Given the description of an element on the screen output the (x, y) to click on. 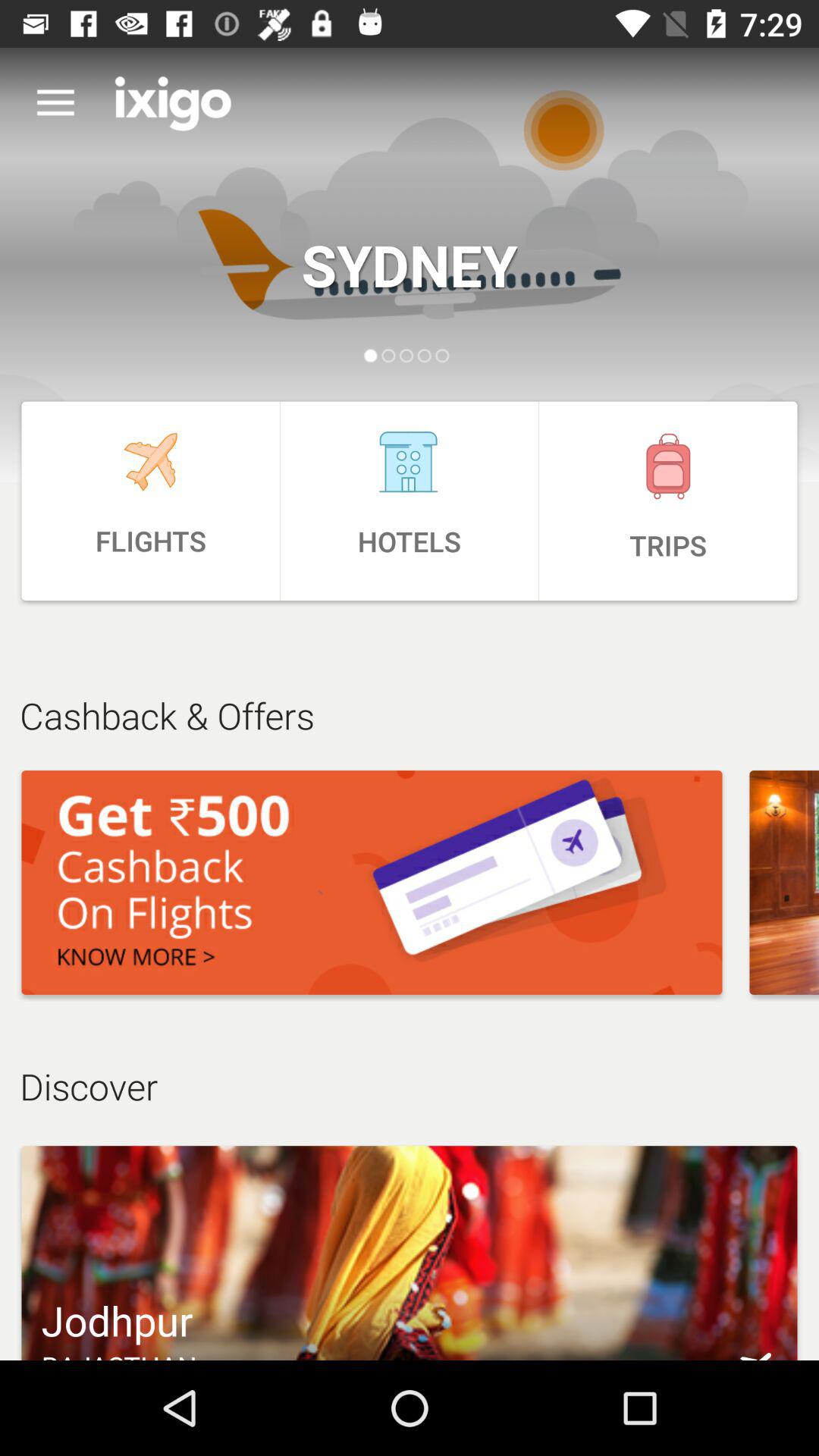
flip until flights icon (150, 500)
